Given the description of an element on the screen output the (x, y) to click on. 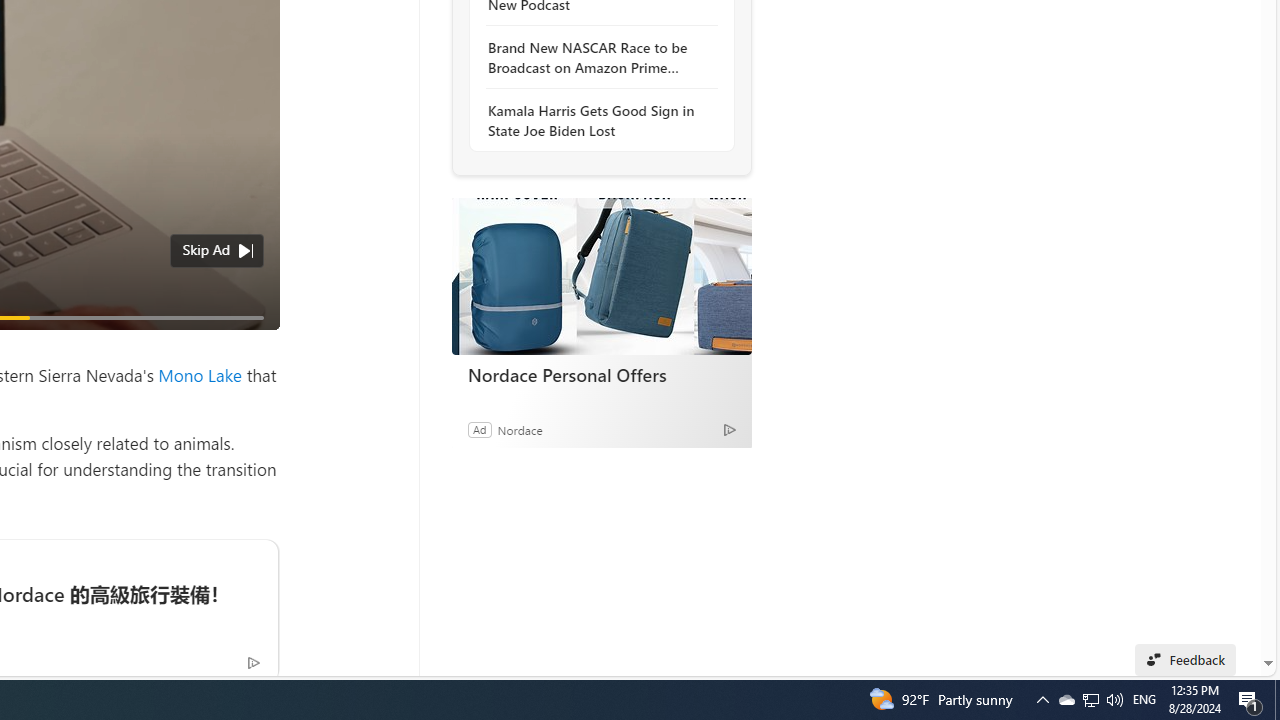
Mono Lake (200, 373)
Unmute (253, 341)
Nordace Personal Offers (601, 374)
Nordace Personal Offers (601, 276)
Skip Ad (205, 249)
Brand New NASCAR Race to be Broadcast on Amazon Prime Video (596, 57)
Kamala Harris Gets Good Sign in State Joe Biden Lost (596, 120)
